Given the description of an element on the screen output the (x, y) to click on. 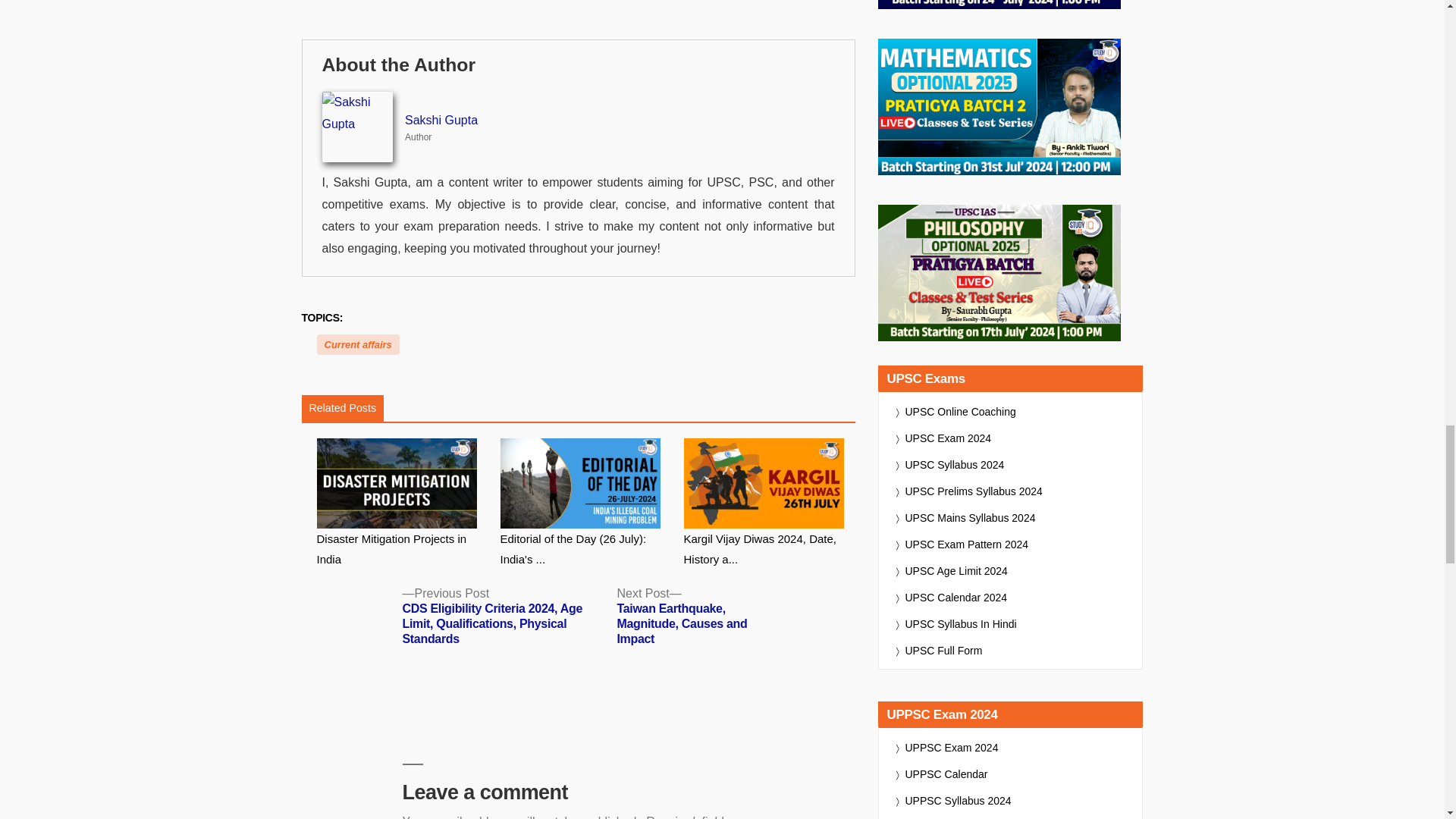
Kargil Vijay Diwas 2024, Date, History and Significance (770, 503)
Disaster Mitigation Projects in India (402, 503)
